Given the description of an element on the screen output the (x, y) to click on. 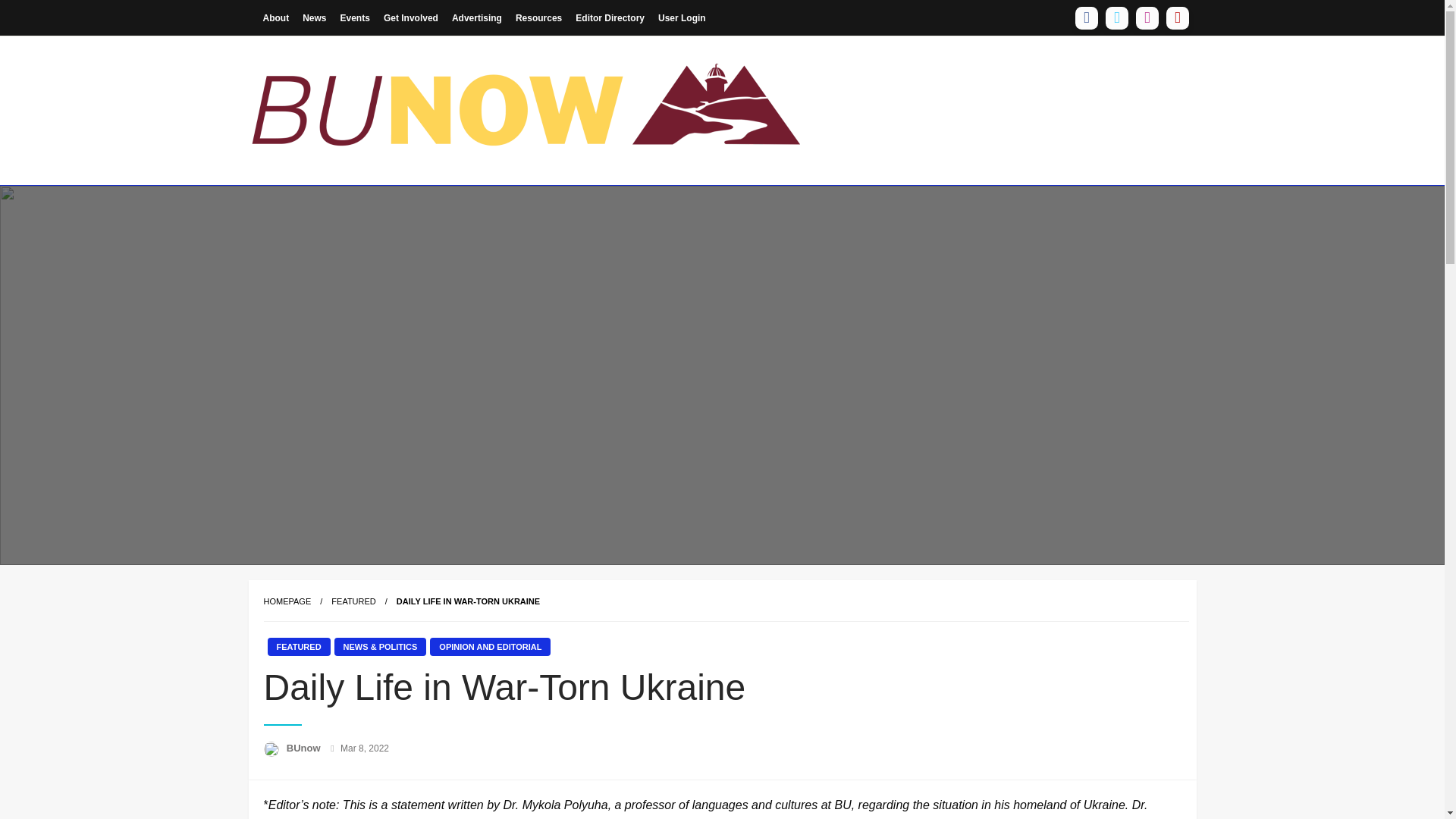
HOMEPAGE (287, 601)
Featured (353, 601)
Editor Directory (609, 17)
News (314, 17)
User Login (681, 17)
FEATURED (298, 647)
OPINION AND EDITORIAL (489, 647)
Homepage (287, 601)
Events (355, 17)
BUnow (304, 747)
